Given the description of an element on the screen output the (x, y) to click on. 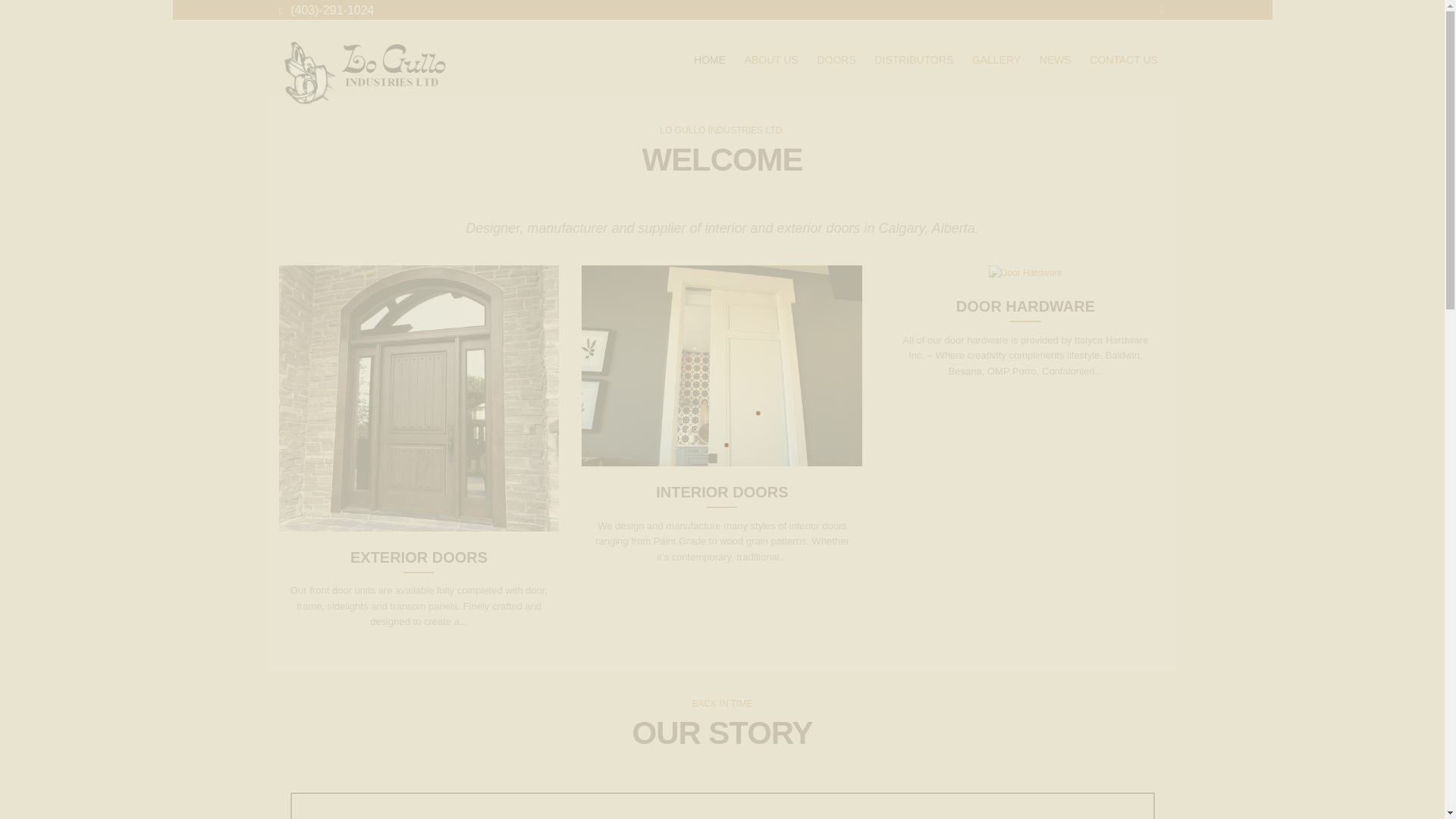
NEWS (1054, 60)
ABOUT US (771, 60)
DOORS (836, 60)
CONTACT US (1123, 60)
DOOR HARDWARE (1025, 306)
HOME (709, 60)
INTERIOR DOORS (721, 492)
GALLERY (996, 60)
DISTRIBUTORS (913, 60)
EXTERIOR DOORS (418, 556)
